Given the description of an element on the screen output the (x, y) to click on. 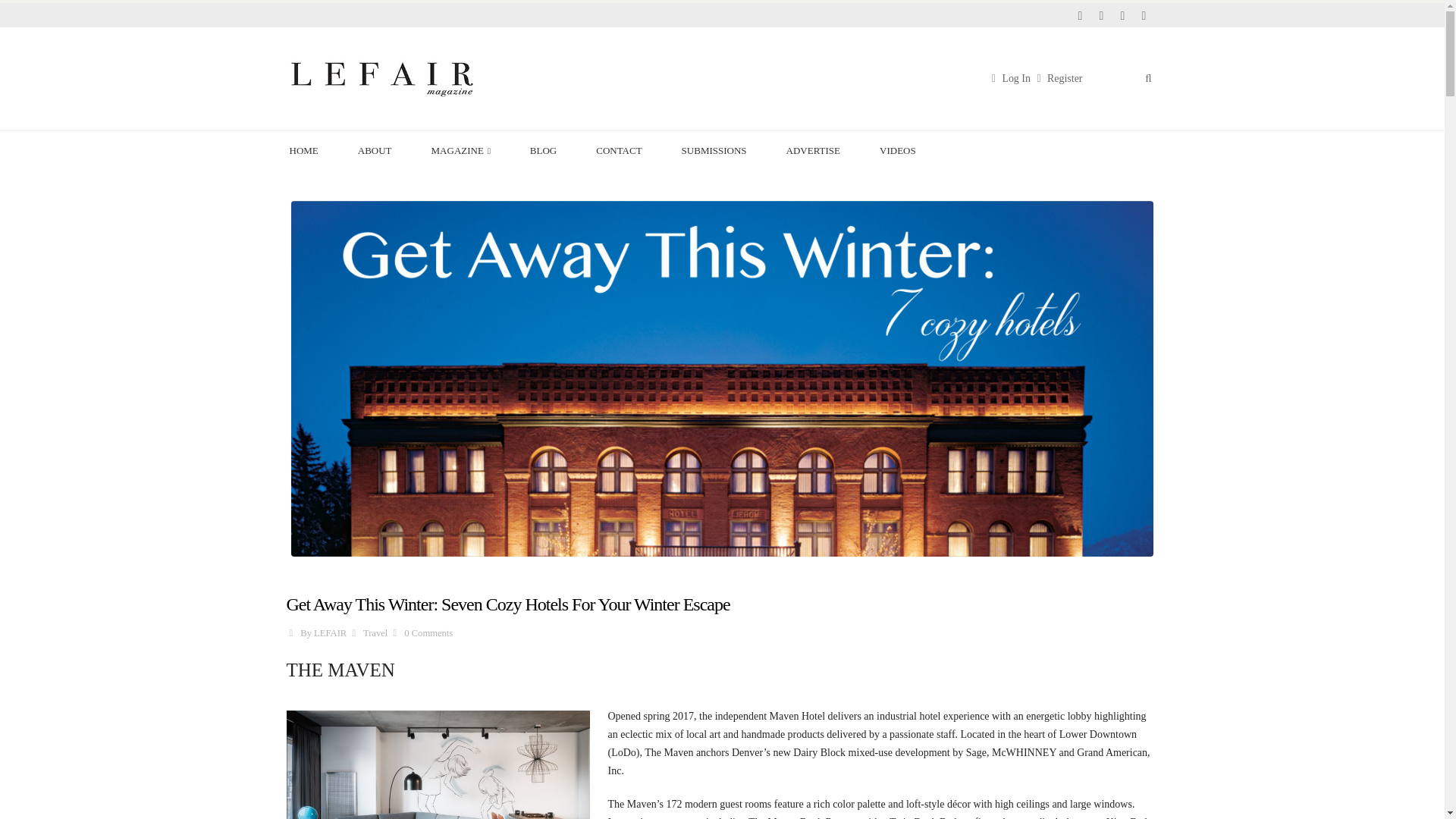
SUBMISSIONS (723, 147)
0 Comments (428, 633)
BLOG (552, 147)
ABOUT (383, 147)
Register (1056, 78)
ADVERTISE (822, 147)
HOME (313, 147)
0 Comments (428, 633)
CONTACT (627, 147)
Travel (374, 633)
LEFAIR (330, 633)
Posts by LEFAIR (330, 633)
VIDEOS (906, 147)
LEFAIR Magazine - Create. Connect. Inspire (381, 78)
Log In (1009, 78)
